Given the description of an element on the screen output the (x, y) to click on. 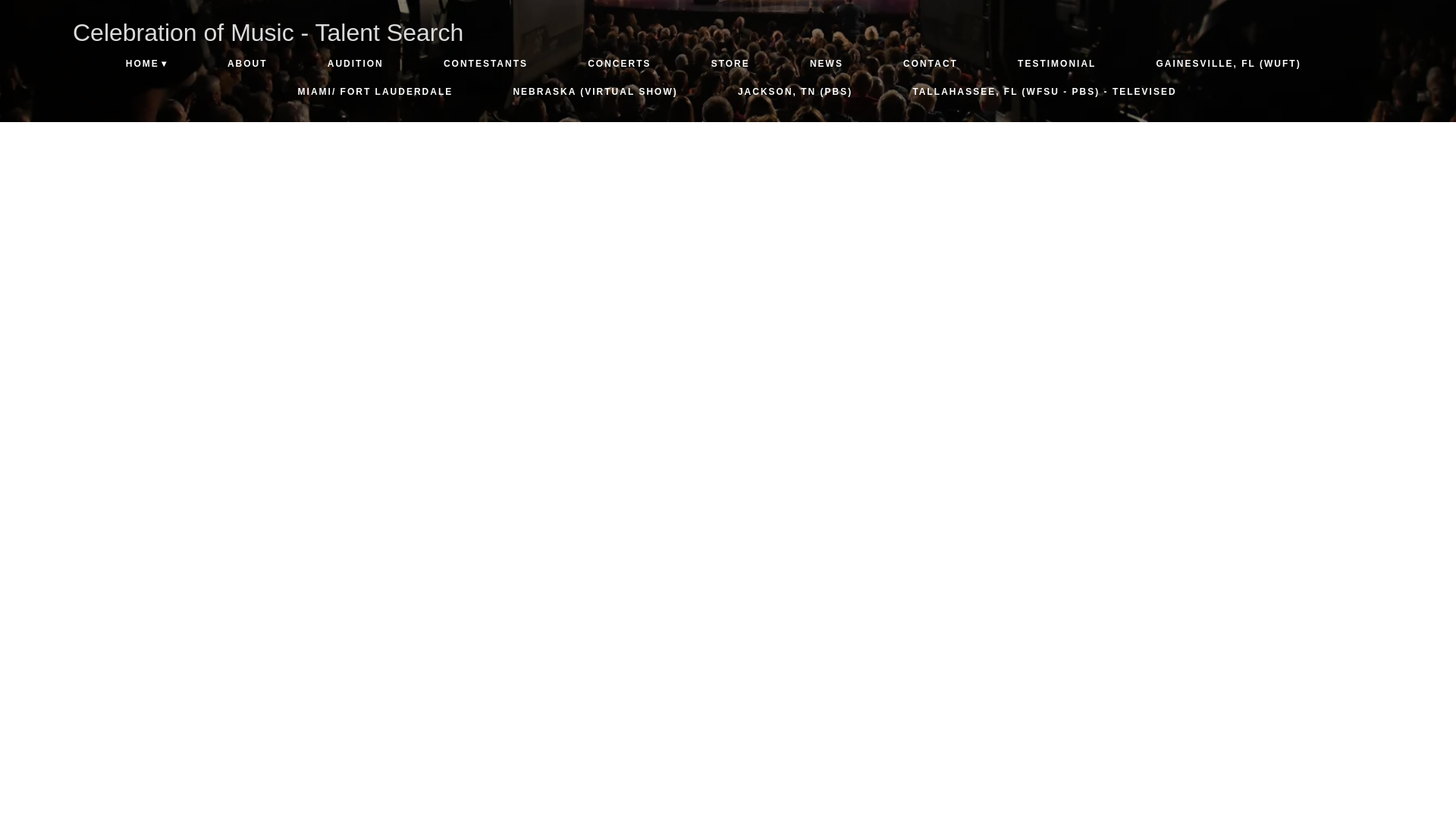
HOME (146, 63)
ABOUT (247, 63)
AUDITION (354, 63)
Celebration of Music - Talent Search (267, 32)
CONTESTANTS (486, 63)
STORE (729, 63)
TESTIMONIAL (1057, 63)
NEWS (826, 63)
CONCERTS (619, 63)
CONTACT (930, 63)
